Given the description of an element on the screen output the (x, y) to click on. 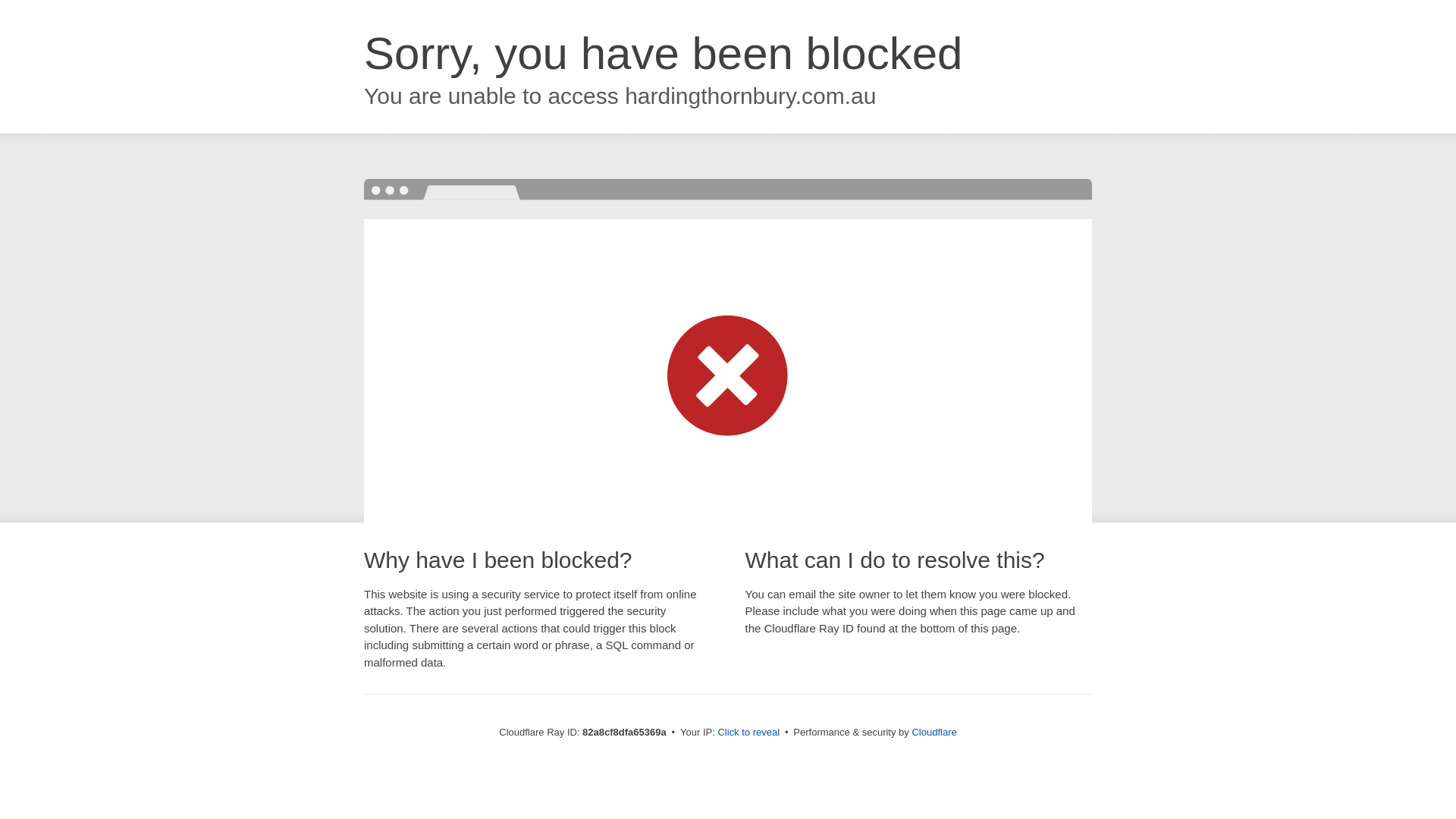
Cloudflare Element type: text (933, 731)
Click to reveal Element type: text (748, 732)
